Given the description of an element on the screen output the (x, y) to click on. 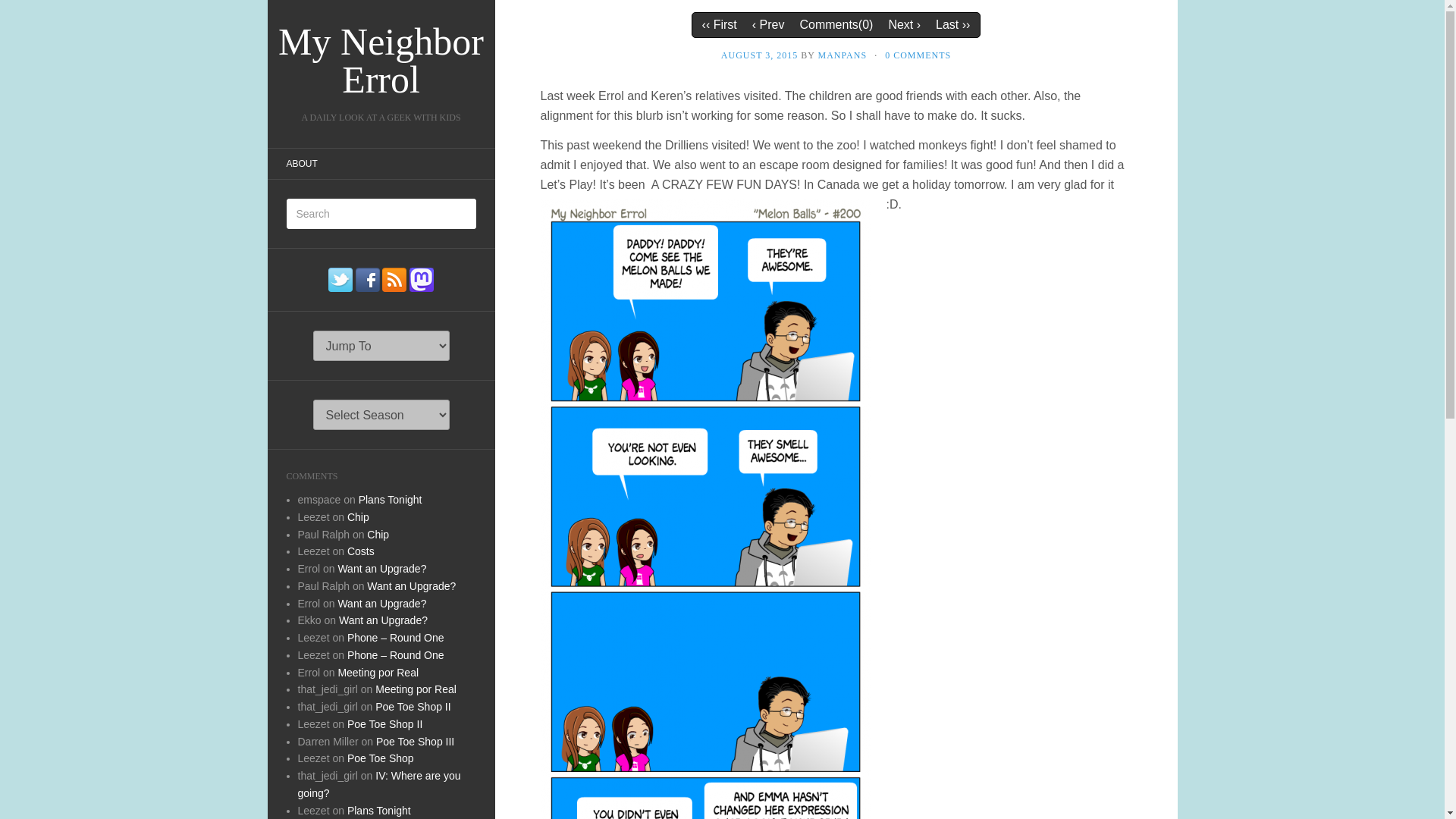
Poe Toe Shop II (384, 724)
Poe Toe Shop (380, 758)
Poe Toe Shop II (412, 706)
Want an Upgrade? (381, 603)
Search (22, 11)
IV: Where are you going? (378, 784)
Want an Upgrade? (381, 568)
Poe Toe Shop III (414, 741)
Chip (377, 533)
Costs (360, 551)
